Given the description of an element on the screen output the (x, y) to click on. 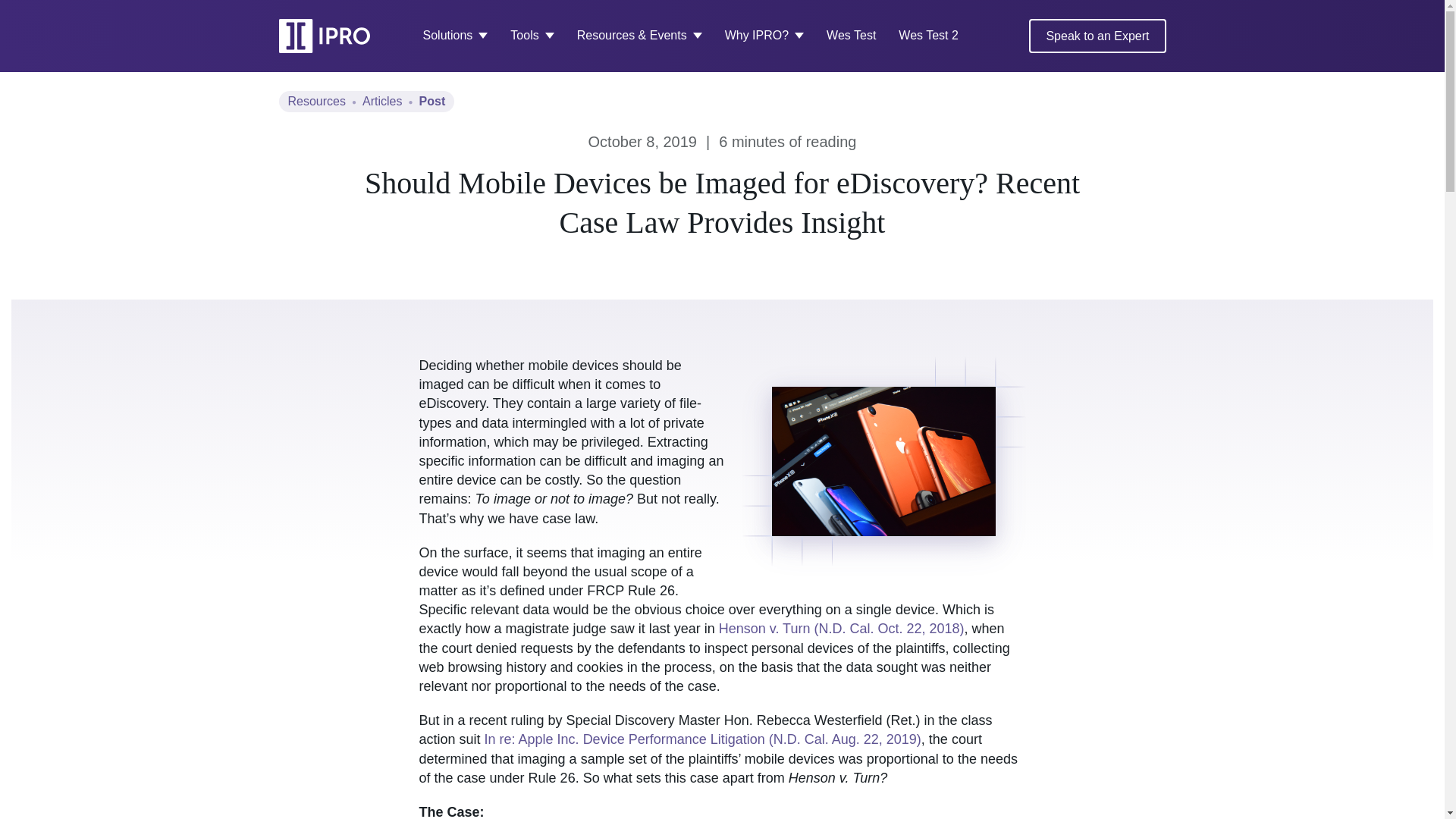
Solutions (454, 35)
